Given the description of an element on the screen output the (x, y) to click on. 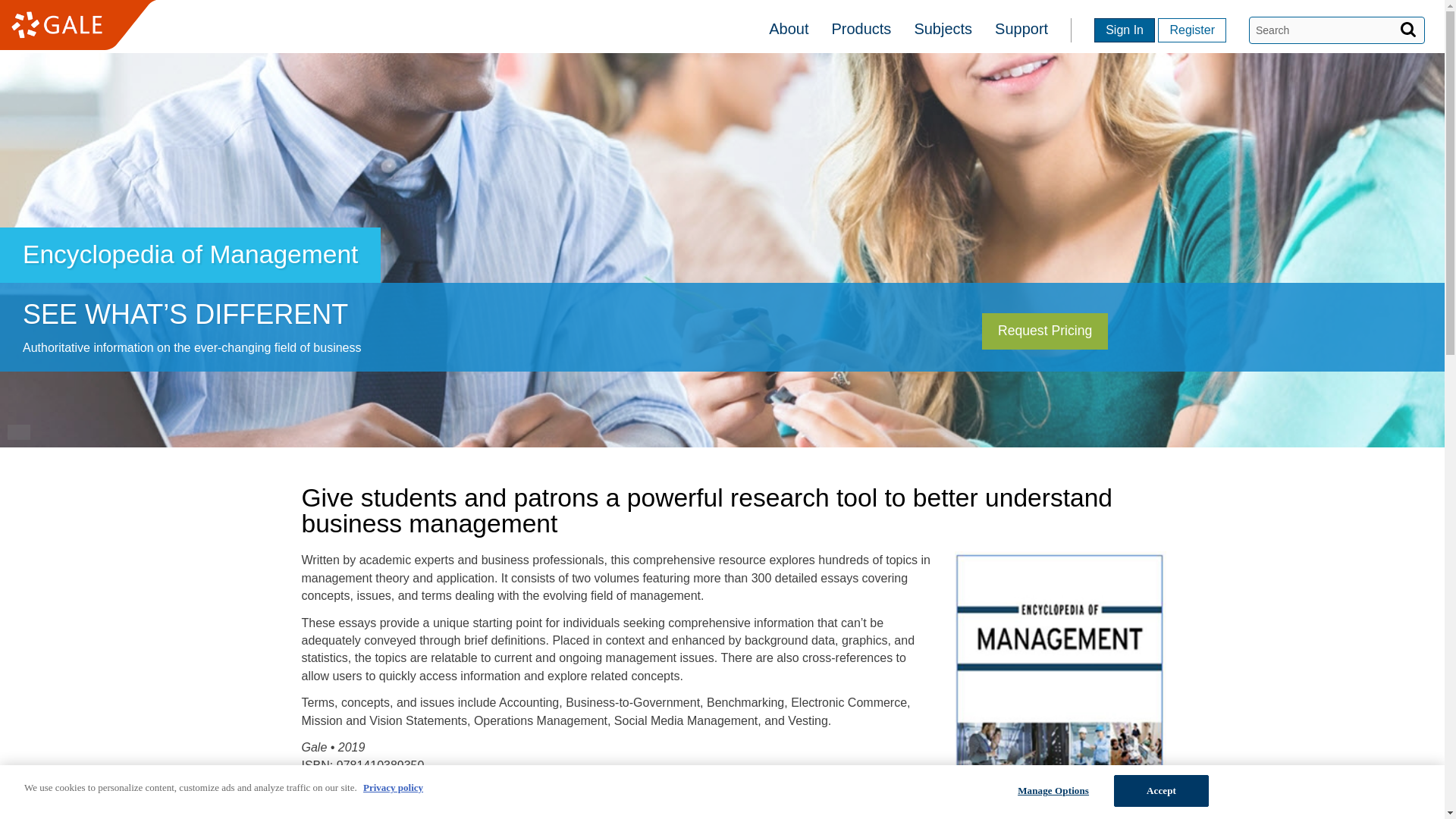
Request Pricing (1203, 325)
